Given the description of an element on the screen output the (x, y) to click on. 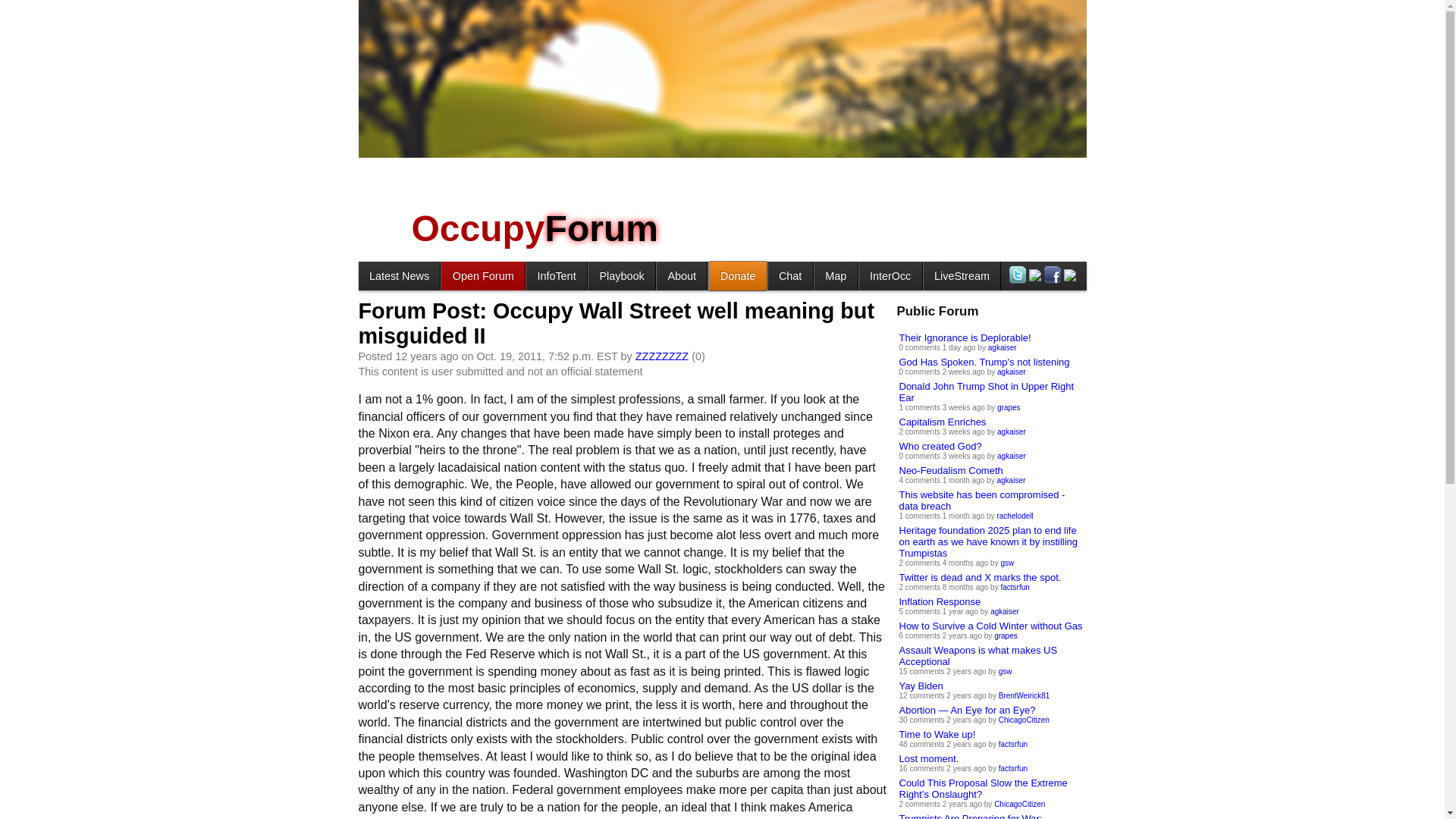
The End of Protest (621, 275)
Latest News (398, 275)
Playbook (621, 275)
News Articles (398, 275)
About Us (681, 275)
Open Forum (482, 275)
InfoTent (555, 275)
Online Guide to the Occupy movement (555, 275)
About (681, 275)
Public discussion board (482, 275)
